Given the description of an element on the screen output the (x, y) to click on. 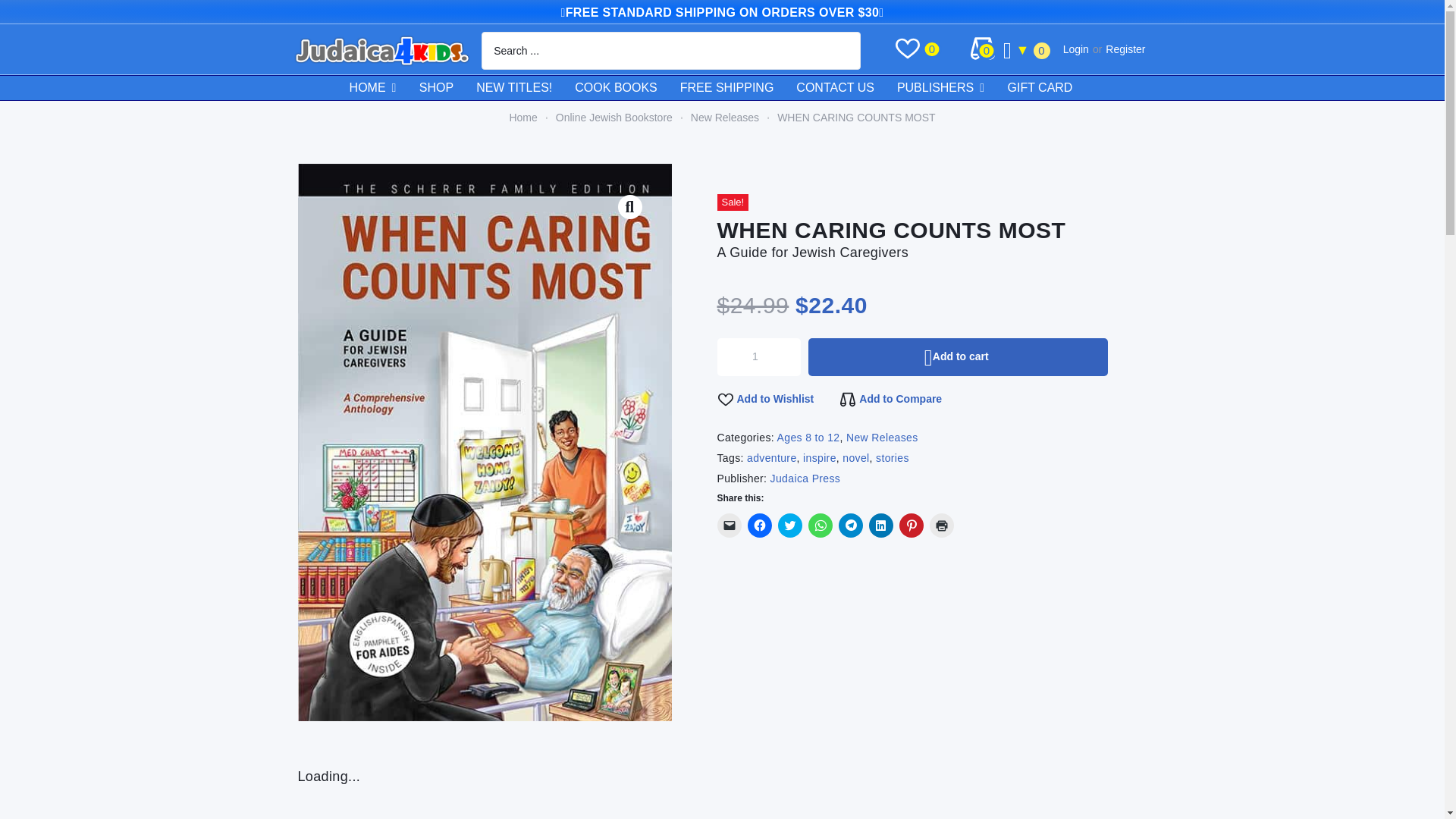
Click to share on Twitter (789, 525)
CONTACT US (846, 87)
GIFT CARD (1050, 87)
NEW TITLES! (525, 87)
Click to share on Facebook (759, 525)
Home (522, 117)
1 (759, 356)
PUBLISHERS (951, 87)
0 (985, 50)
HOME (384, 87)
